Given the description of an element on the screen output the (x, y) to click on. 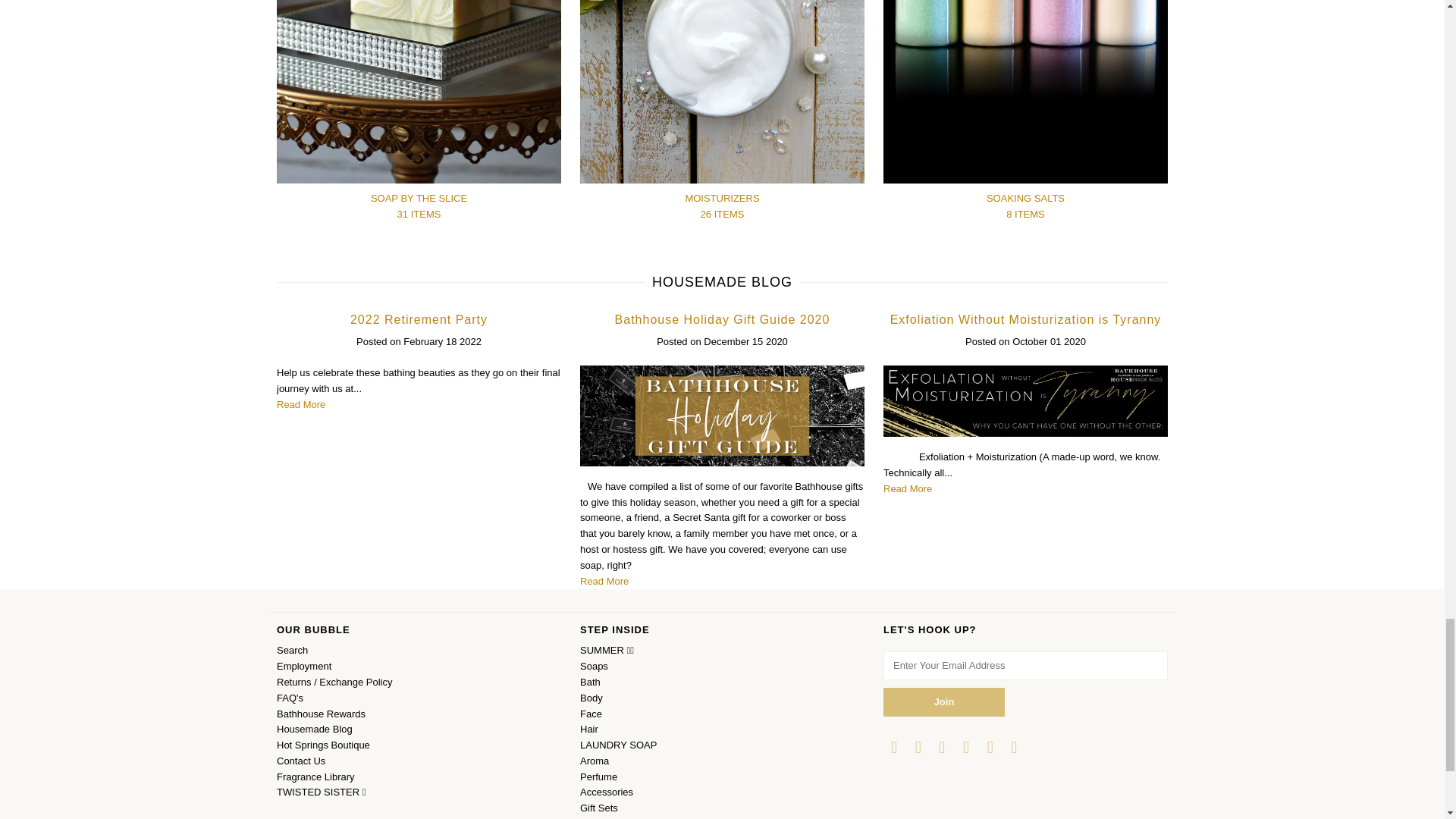
Join (943, 701)
